Given the description of an element on the screen output the (x, y) to click on. 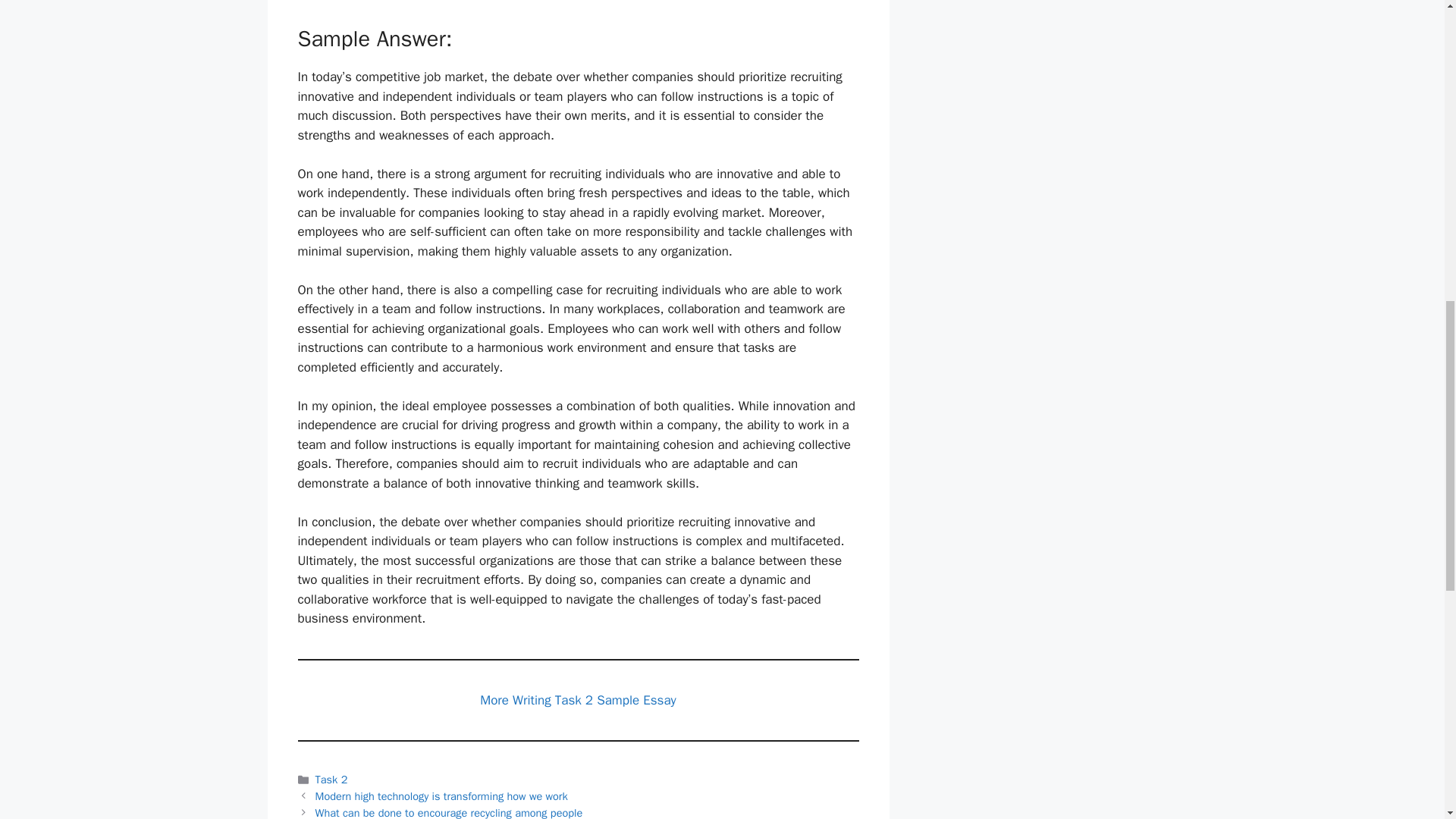
What can be done to encourage recycling among people (449, 812)
More Writing Task 2 Sample Essay (577, 700)
Task 2 (331, 779)
Modern high technology is transforming how we work (441, 796)
